Given the description of an element on the screen output the (x, y) to click on. 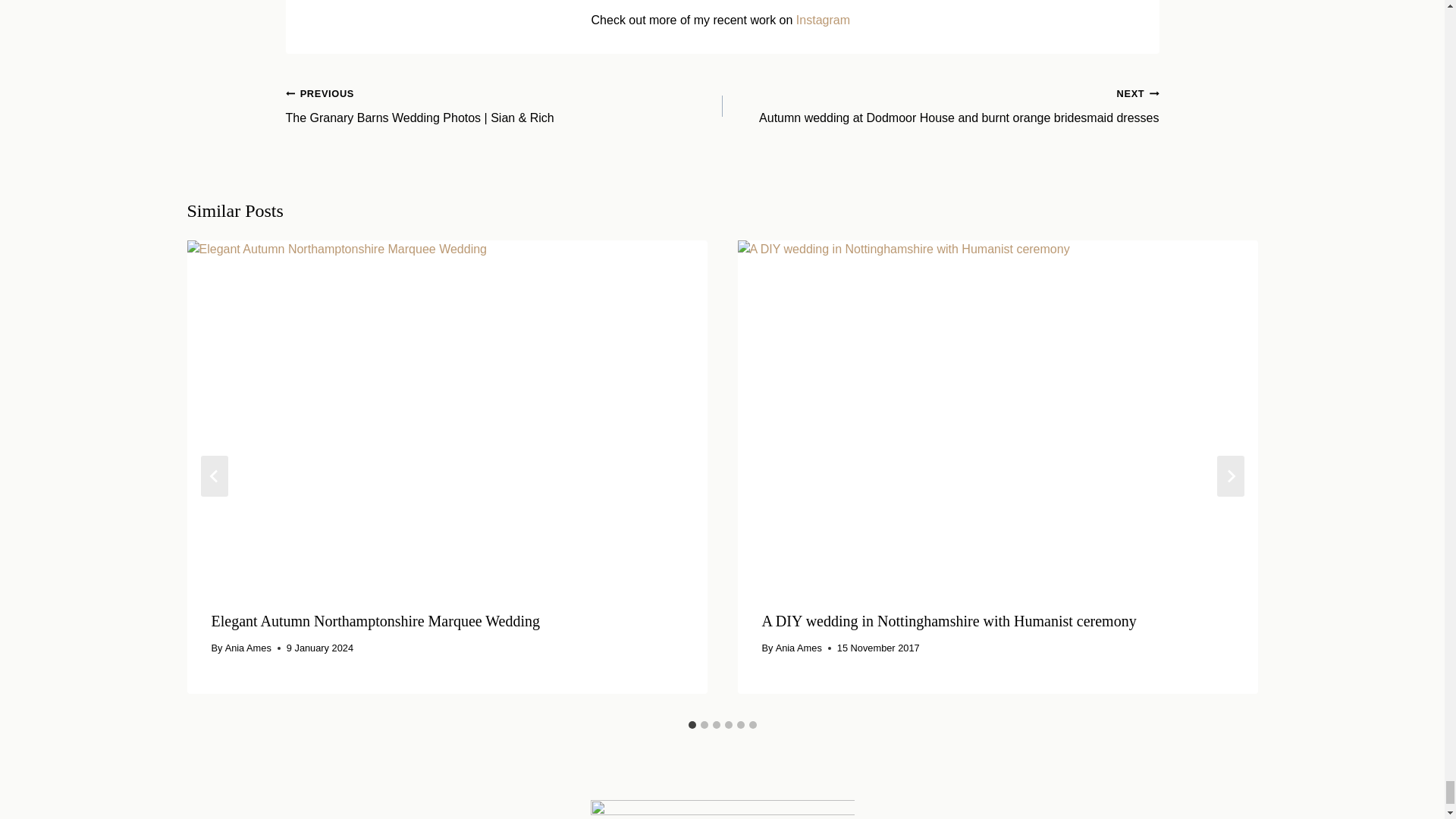
Instagram  (824, 19)
Elegant Autumn Northamptonshire Marquee Wedding (375, 620)
